Given the description of an element on the screen output the (x, y) to click on. 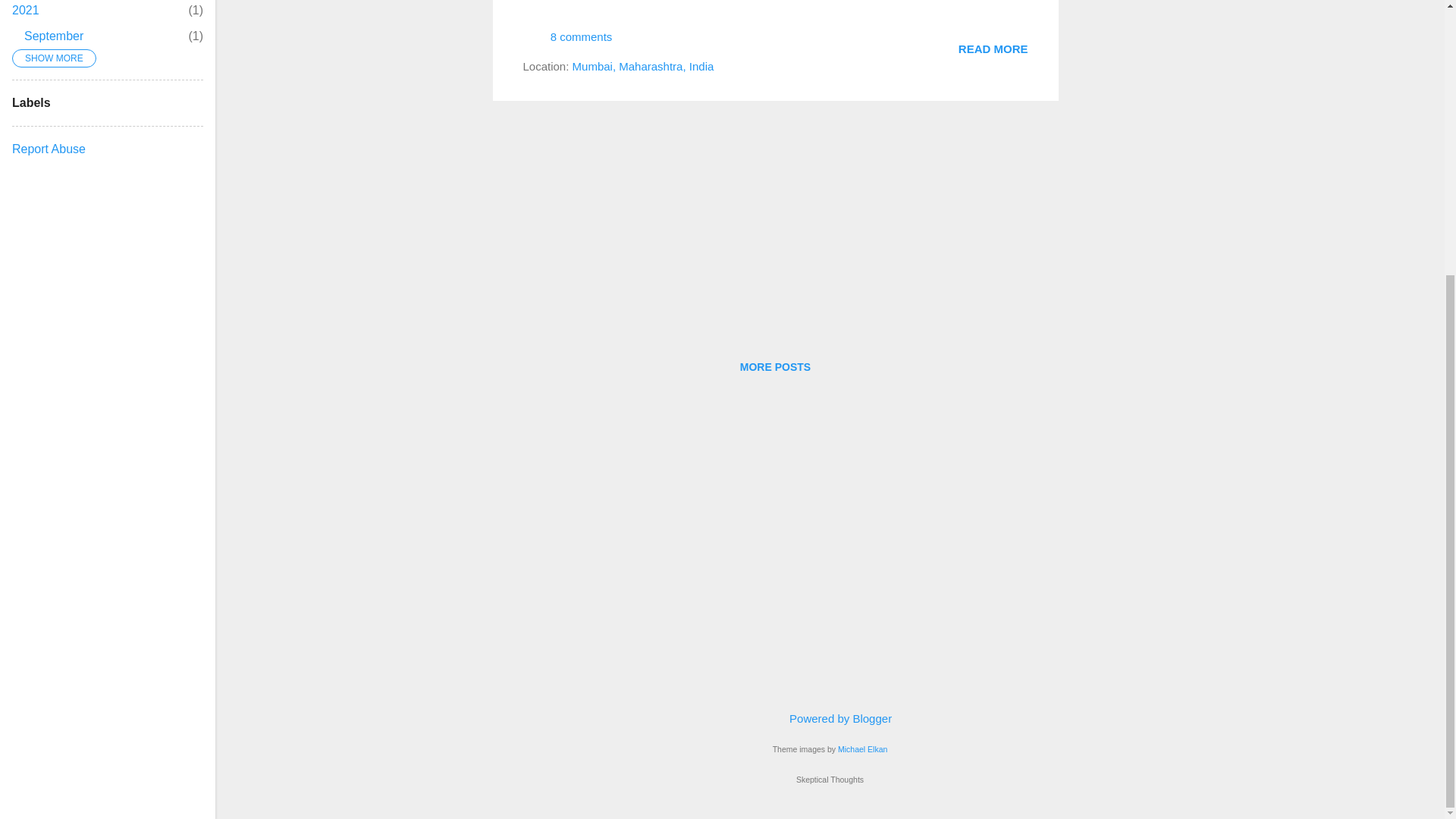
MORE POSTS (53, 35)
8 comments (774, 366)
How To Save Your Planet (567, 42)
Mumbai, Maharashtra, India (992, 47)
READ MORE (25, 10)
More posts (643, 65)
Powered by Blogger (992, 47)
Michael Elkan (774, 366)
